Given the description of an element on the screen output the (x, y) to click on. 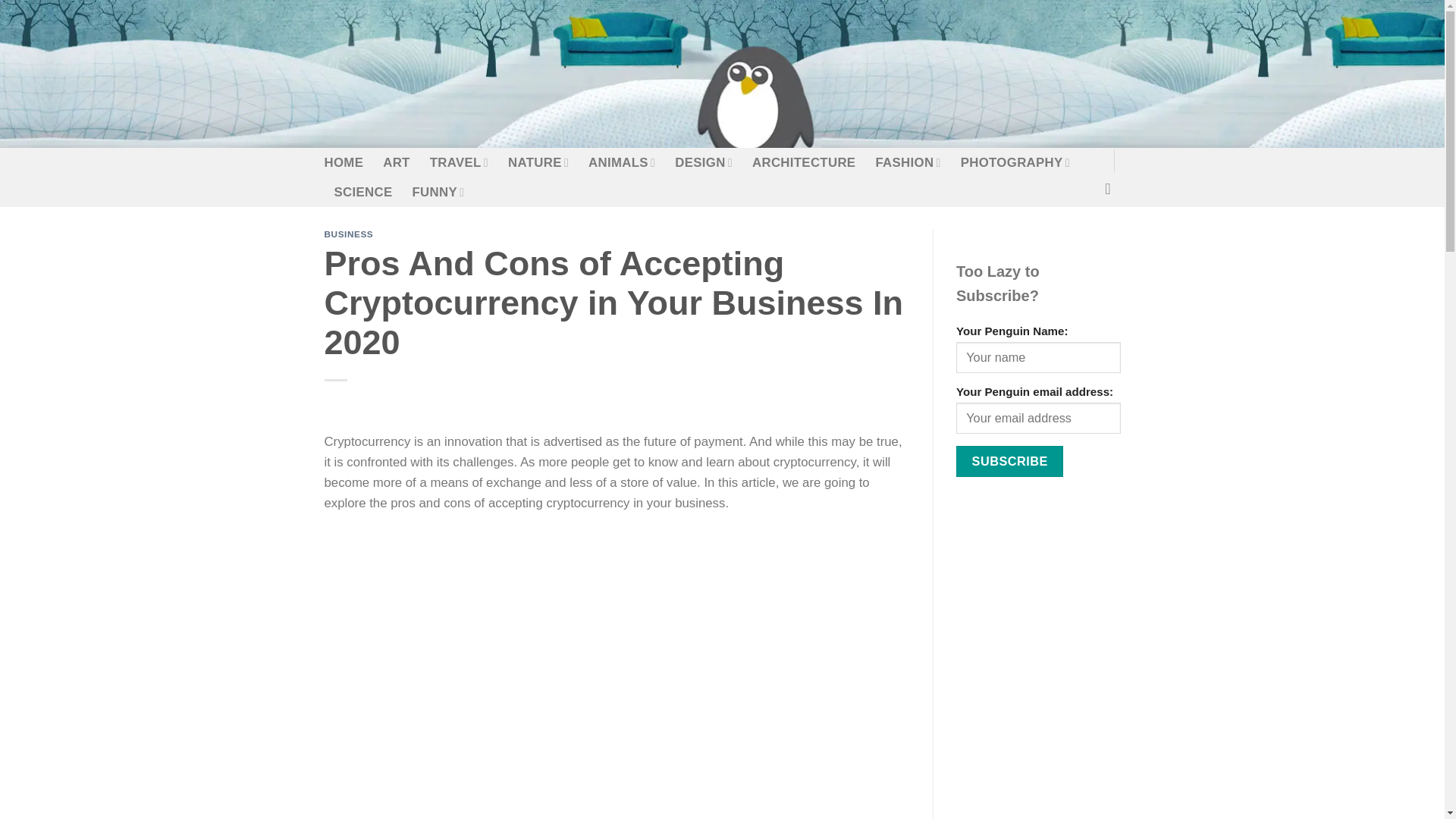
Subscribe (1009, 460)
HOME (344, 162)
FASHION (907, 162)
SCIENCE (362, 192)
ANIMALS (621, 162)
DESIGN (703, 162)
TRAVEL (458, 162)
Subscribe (1009, 460)
ARCHITECTURE (804, 162)
ART (396, 162)
